Given the description of an element on the screen output the (x, y) to click on. 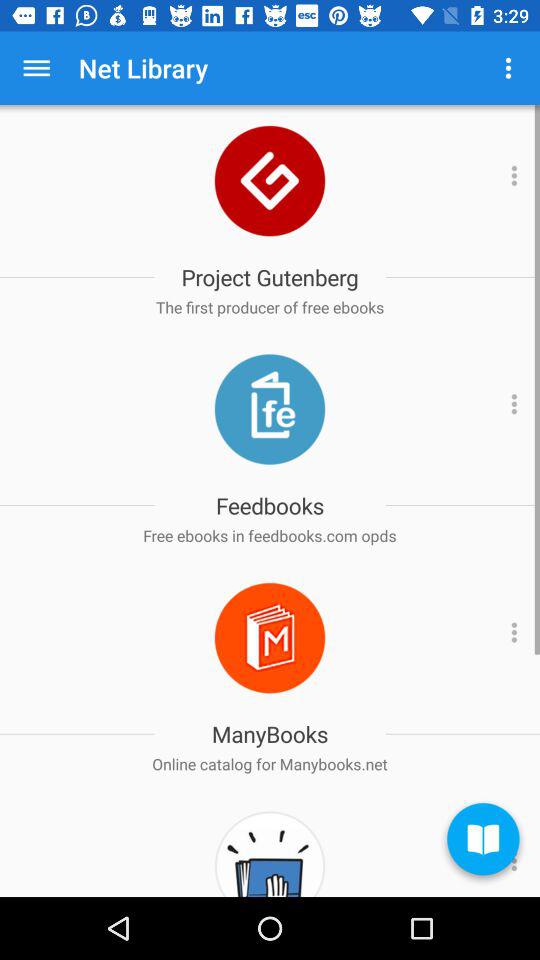
select the option icon which is next to feedbooks icon (511, 409)
select manybooks icon (269, 637)
click on the top right icon (508, 68)
